Given the description of an element on the screen output the (x, y) to click on. 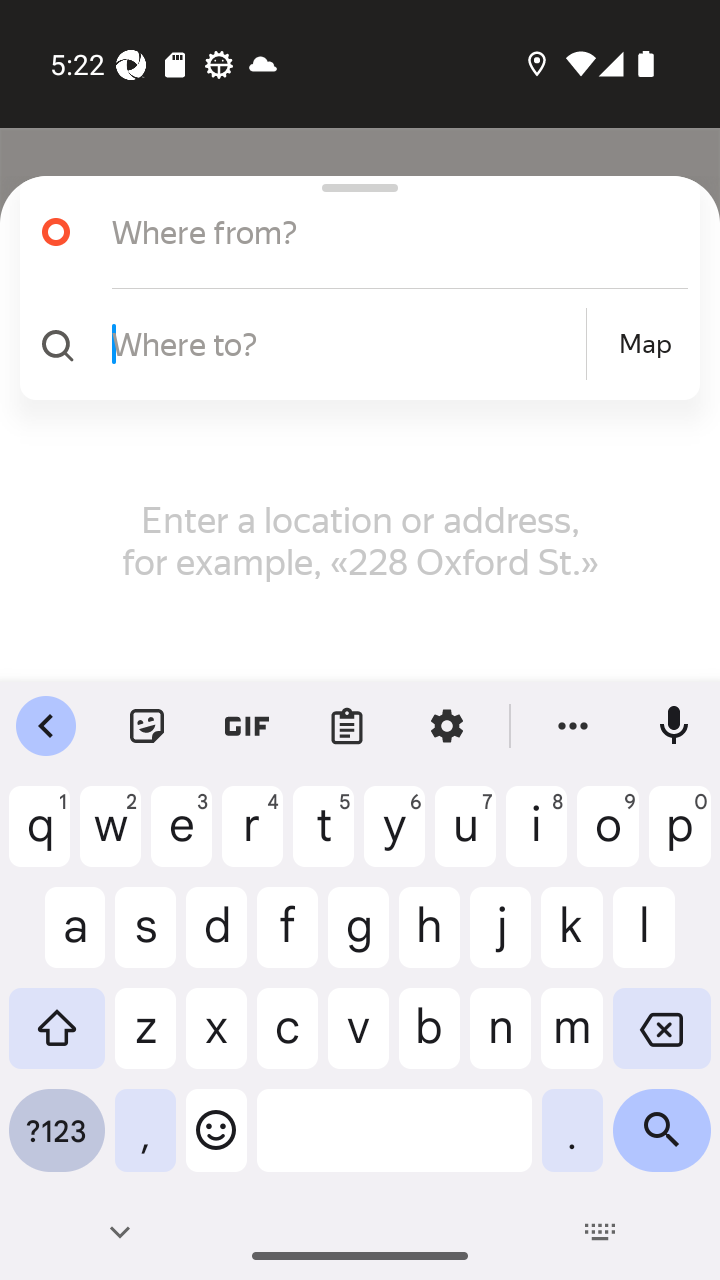
Where from? (352, 232)
Where from? (373, 232)
Where to? Map Map (352, 343)
Map (645, 343)
Where to? (346, 343)
